Given the description of an element on the screen output the (x, y) to click on. 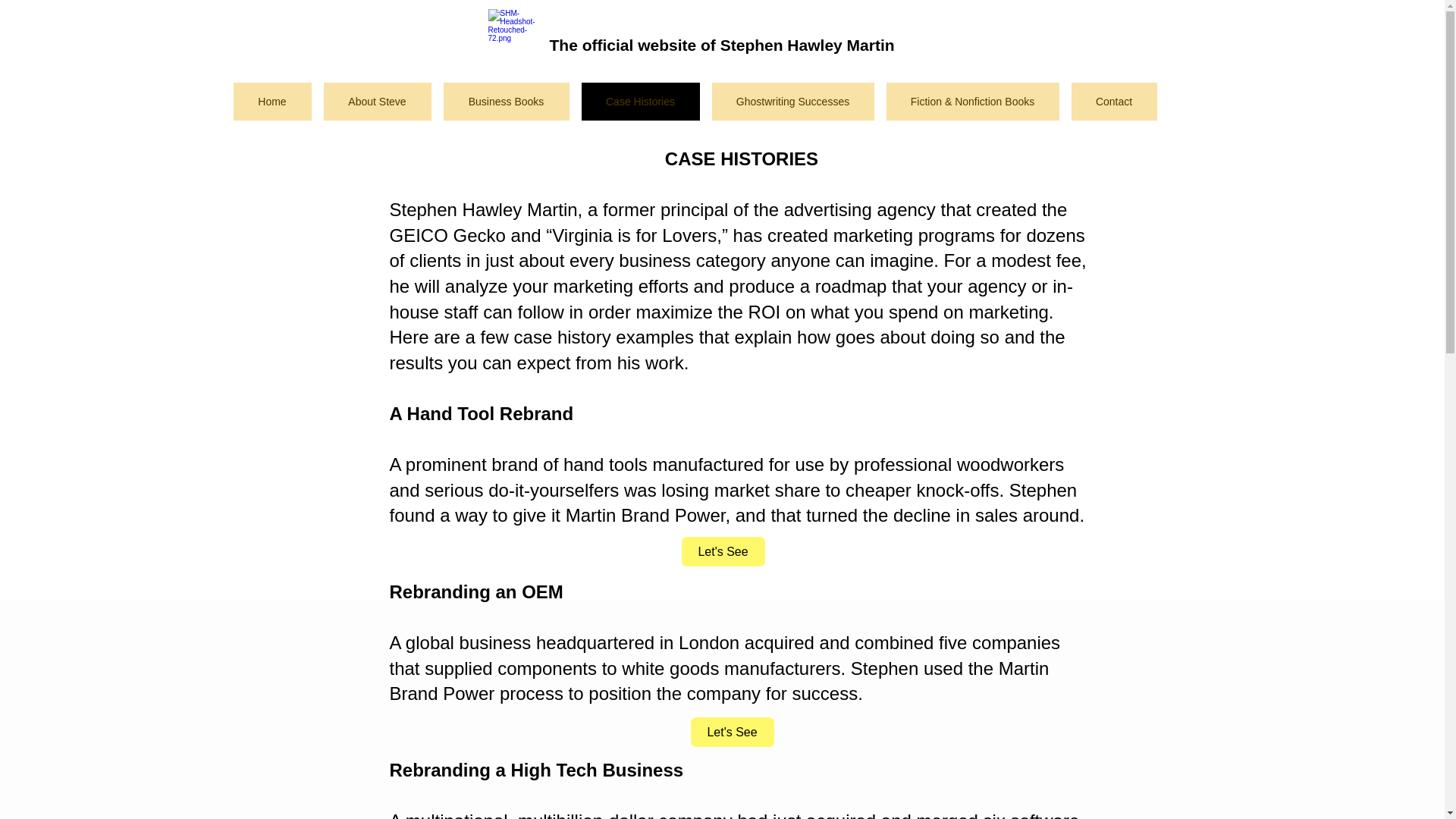
About Steve (376, 101)
Business Books (505, 101)
Case Histories (639, 101)
Let's See (731, 731)
Contact (1113, 101)
Ghostwriting Successes (792, 101)
Home (271, 101)
Let's See (722, 551)
